Given the description of an element on the screen output the (x, y) to click on. 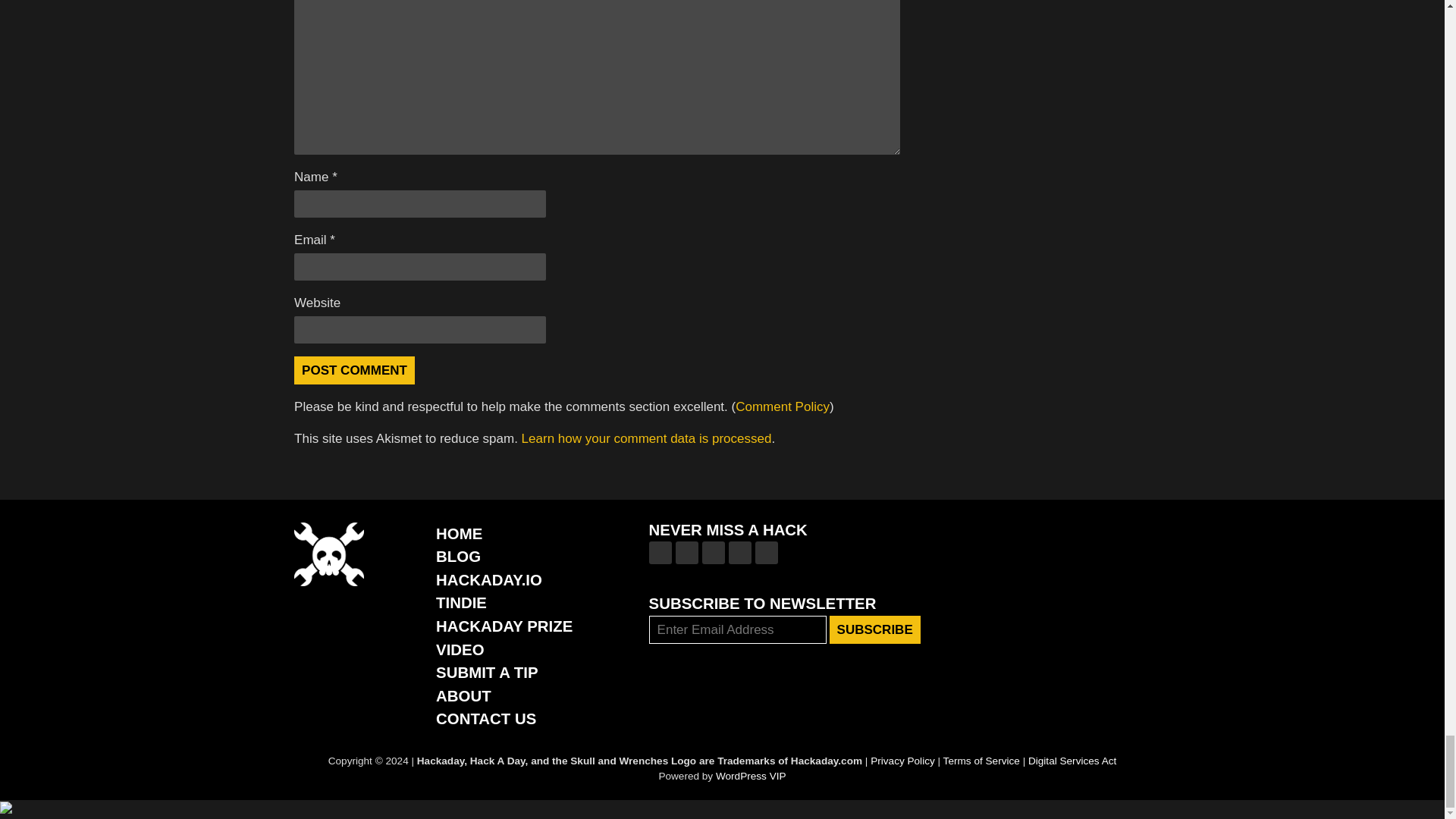
Build Something that Matters (503, 626)
Post Comment (354, 370)
Subscribe (874, 629)
